Given the description of an element on the screen output the (x, y) to click on. 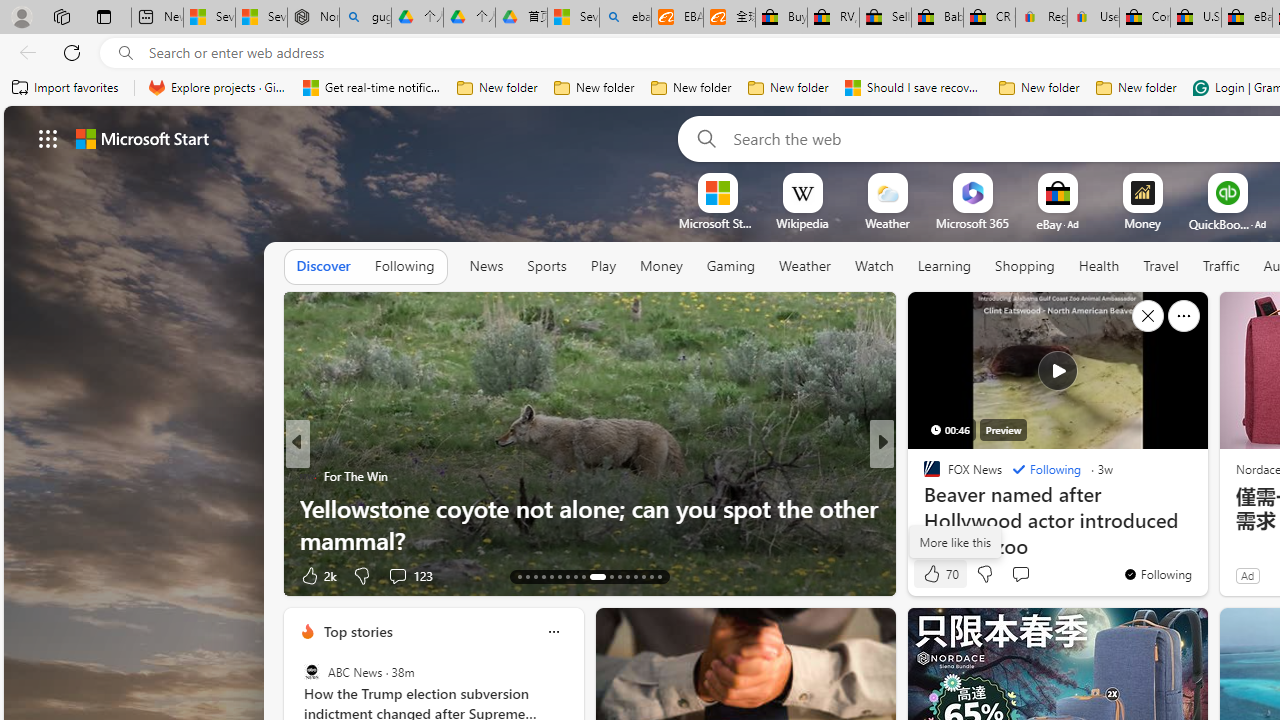
AutomationID: tab-22 (593, 576)
AutomationID: tab-20 (574, 576)
You're following FOX News (1157, 573)
81 Like (934, 574)
Play (603, 267)
App launcher (47, 138)
guge yunpan - Search (365, 17)
Health (1099, 265)
AutomationID: tab-23 (606, 576)
